Given the description of an element on the screen output the (x, y) to click on. 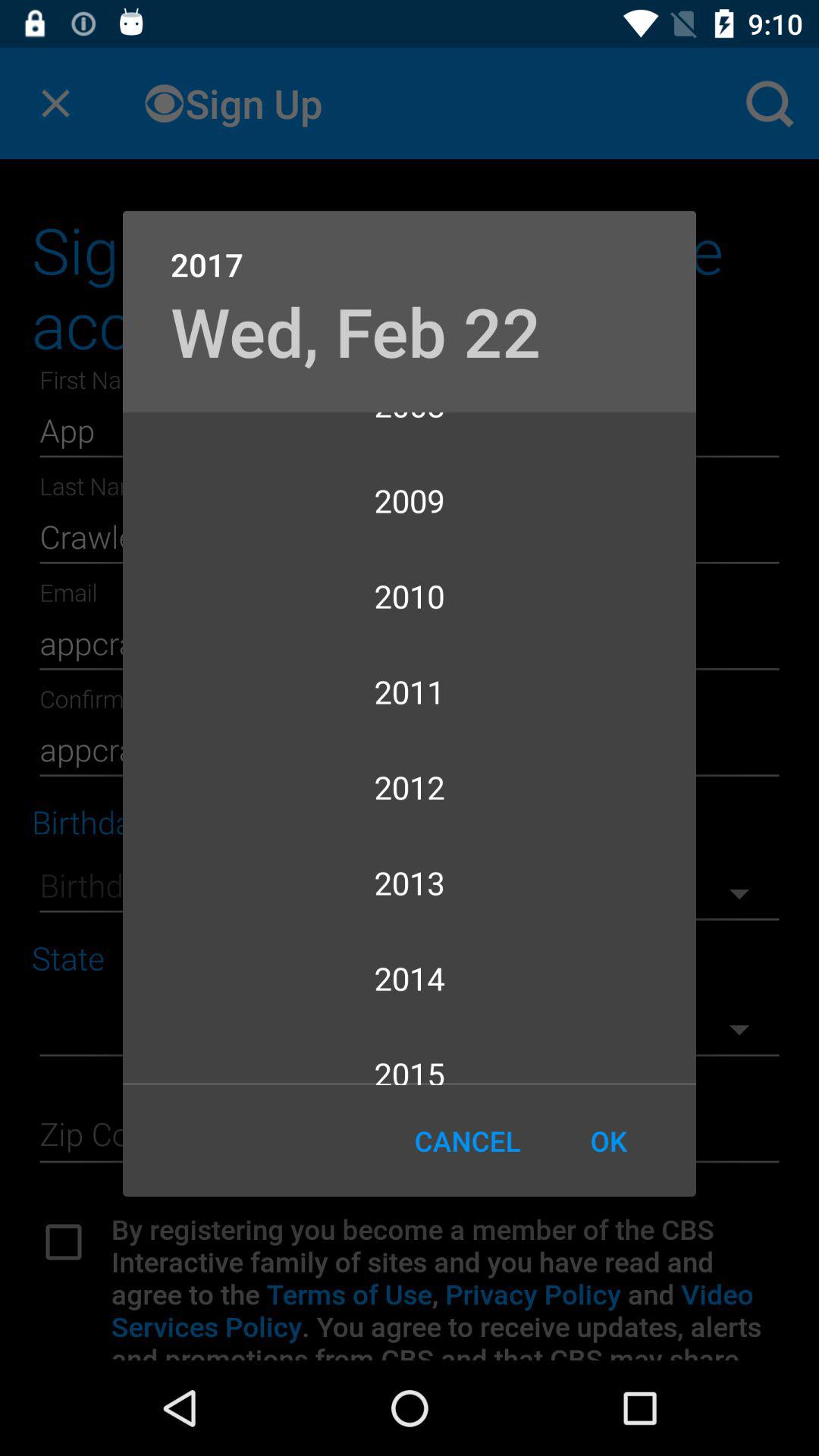
click the icon above wed, feb 22 icon (409, 248)
